Given the description of an element on the screen output the (x, y) to click on. 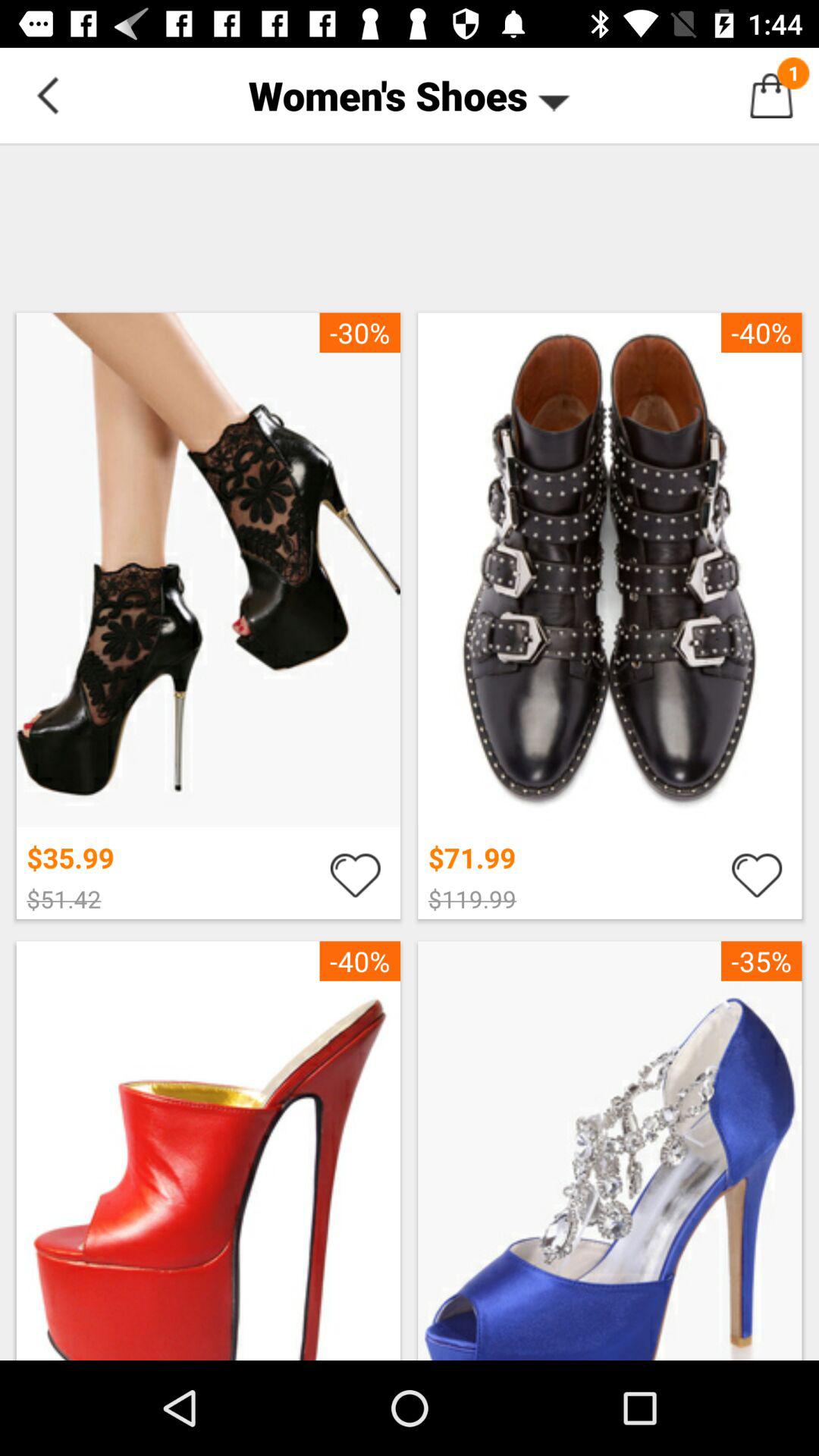
find a different department (47, 95)
